Given the description of an element on the screen output the (x, y) to click on. 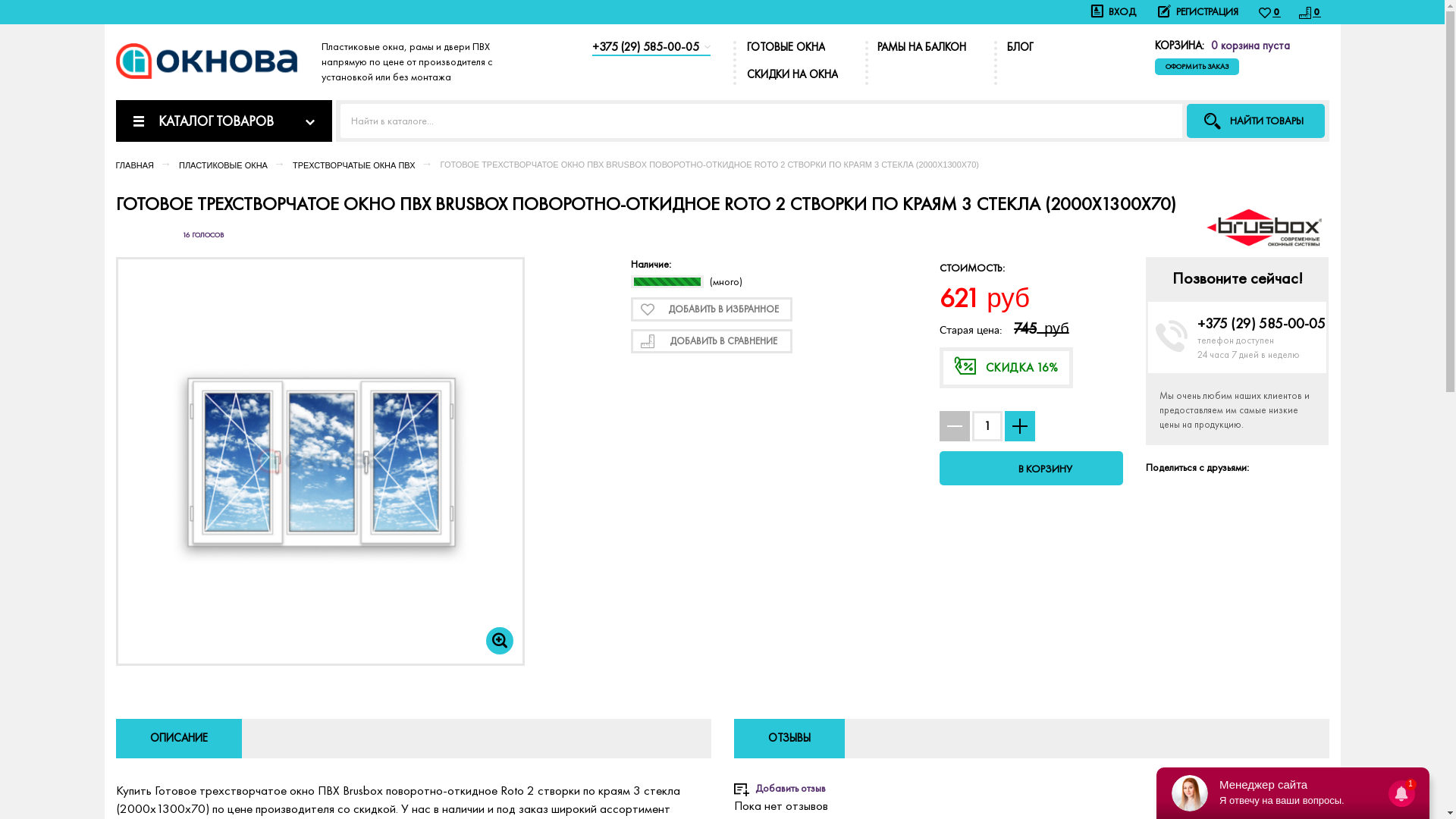
Brusbox Element type: hover (1263, 224)
